Given the description of an element on the screen output the (x, y) to click on. 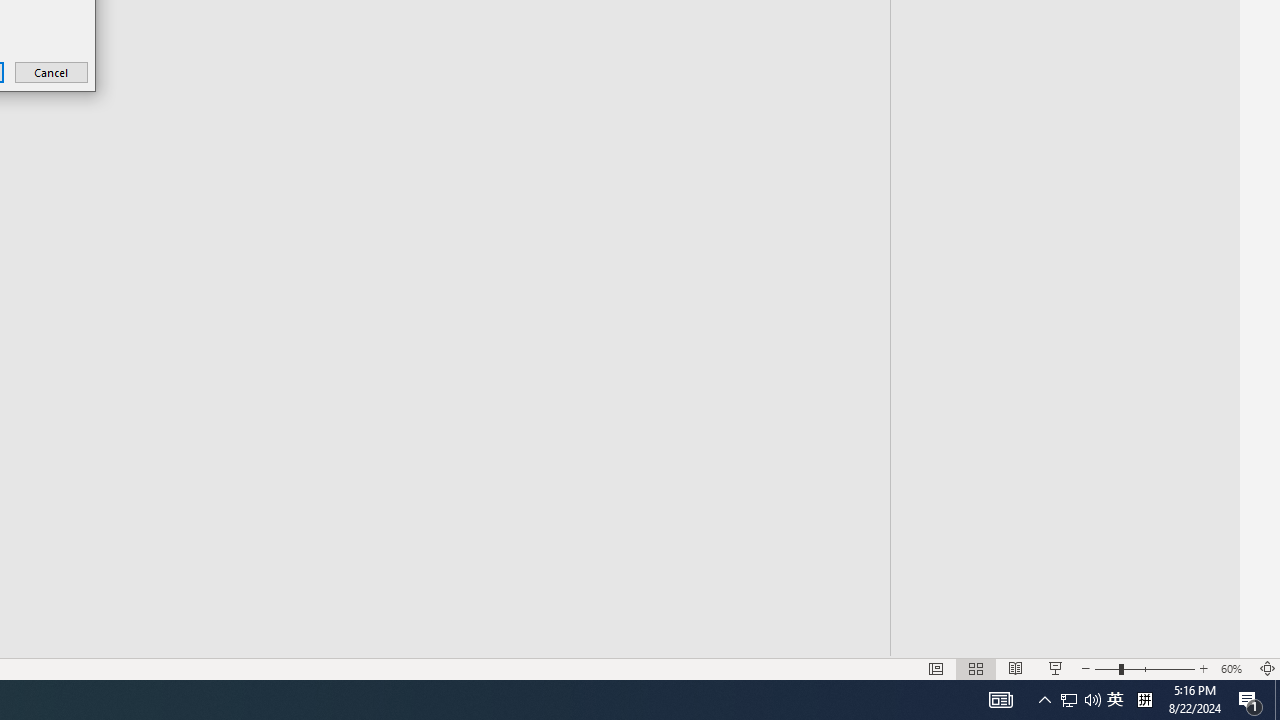
Zoom 60% (1234, 668)
